Given the description of an element on the screen output the (x, y) to click on. 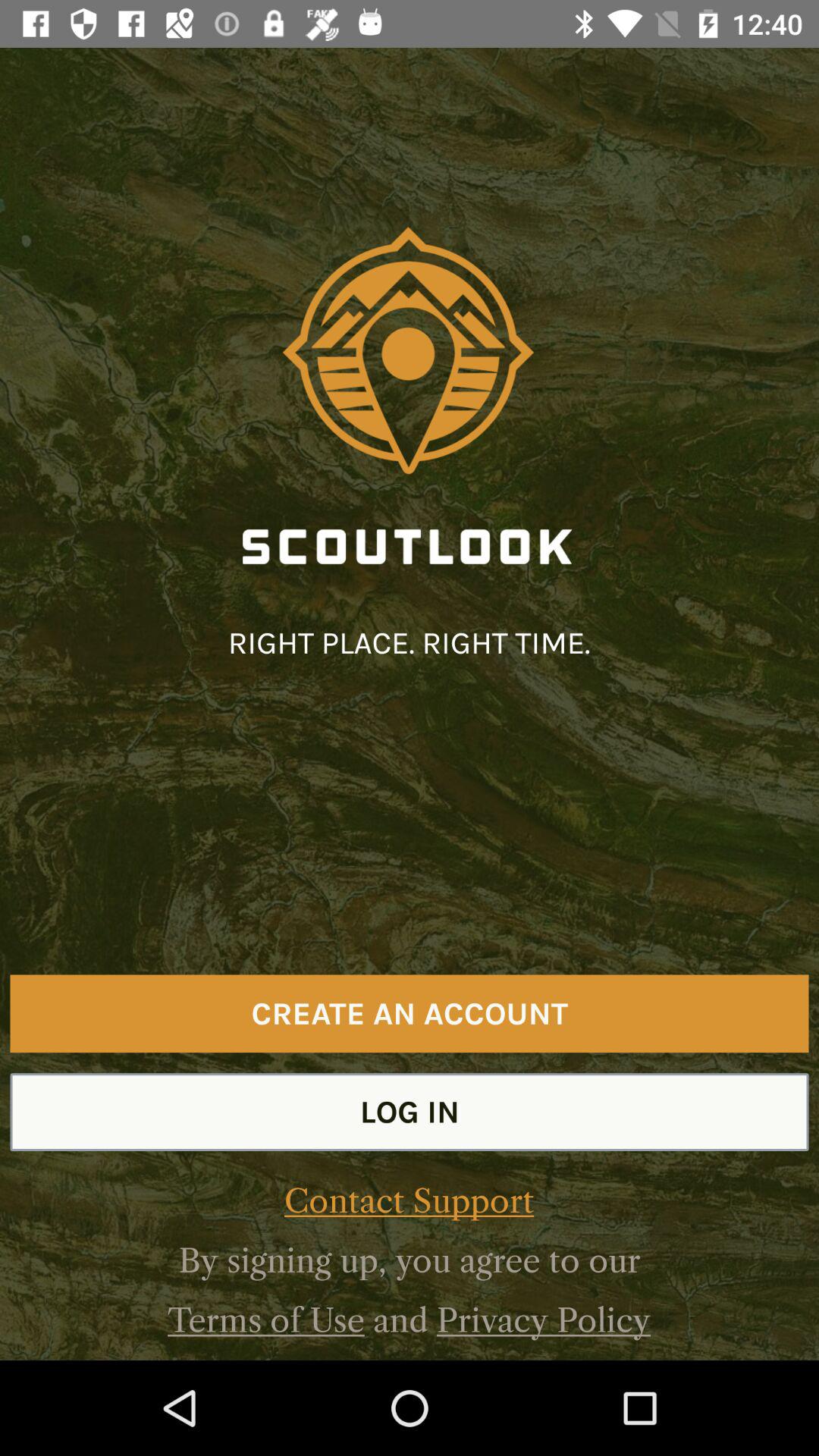
launch item above log in item (409, 1013)
